Given the description of an element on the screen output the (x, y) to click on. 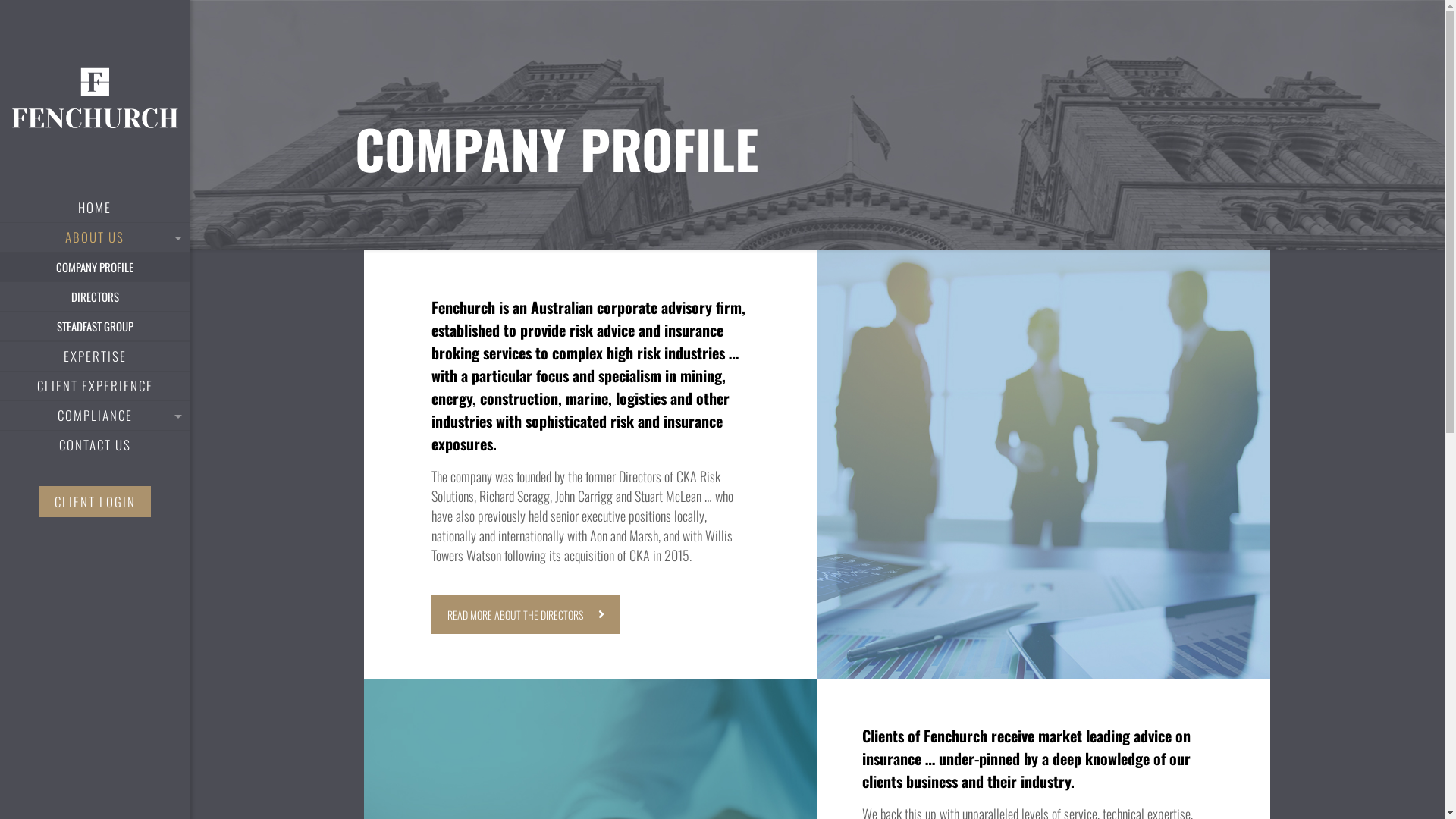
STEADFAST GROUP Element type: text (94, 326)
ABOUT US Element type: text (94, 237)
READ MORE ABOUT THE DIRECTORS Element type: text (525, 614)
COMPLIANCE Element type: text (94, 415)
CLIENT LOGIN Element type: text (94, 501)
COMPANY PROFILE Element type: text (94, 266)
DIRECTORS Element type: text (94, 296)
HOME Element type: text (94, 207)
EXPERTISE Element type: text (94, 356)
Fenchurch Insurance Element type: hover (94, 96)
CLIENT EXPERIENCE Element type: text (94, 386)
CONTACT US Element type: text (94, 444)
